Given the description of an element on the screen output the (x, y) to click on. 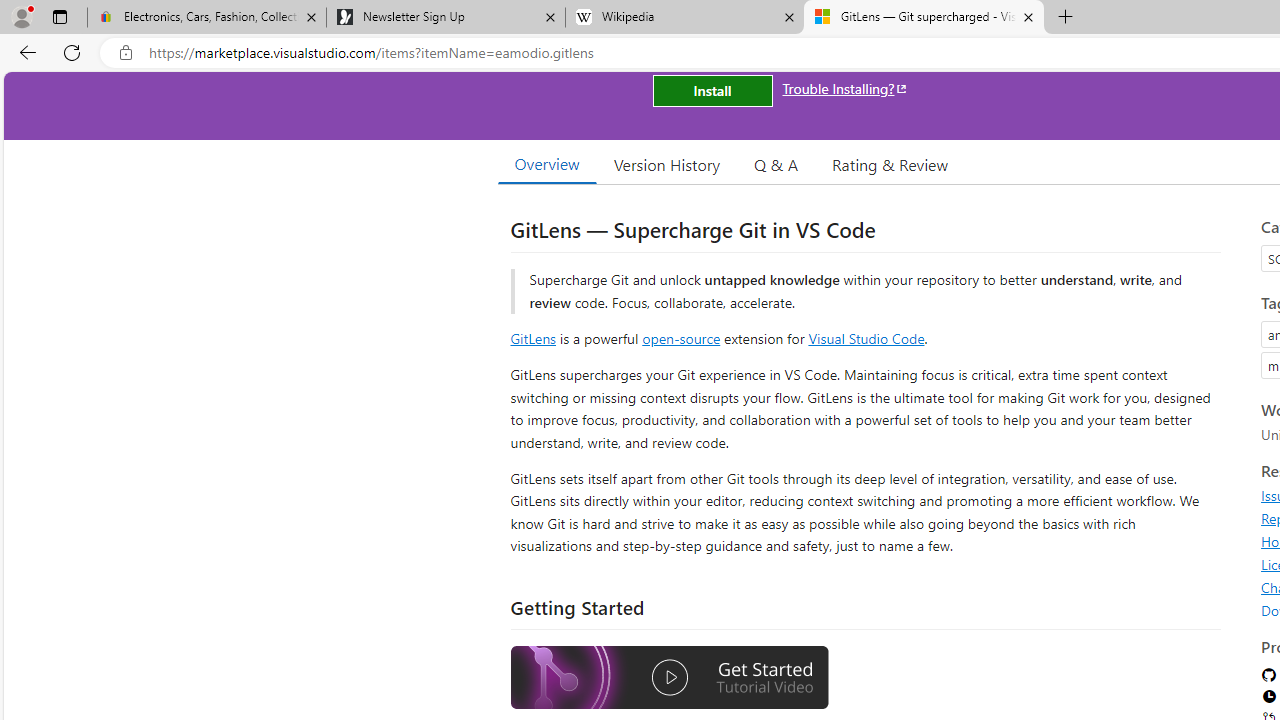
Wikipedia (684, 17)
Watch the GitLens Getting Started video (669, 678)
Visual Studio Code (866, 337)
Rating & Review (890, 164)
Watch the GitLens Getting Started video (669, 679)
